Given the description of an element on the screen output the (x, y) to click on. 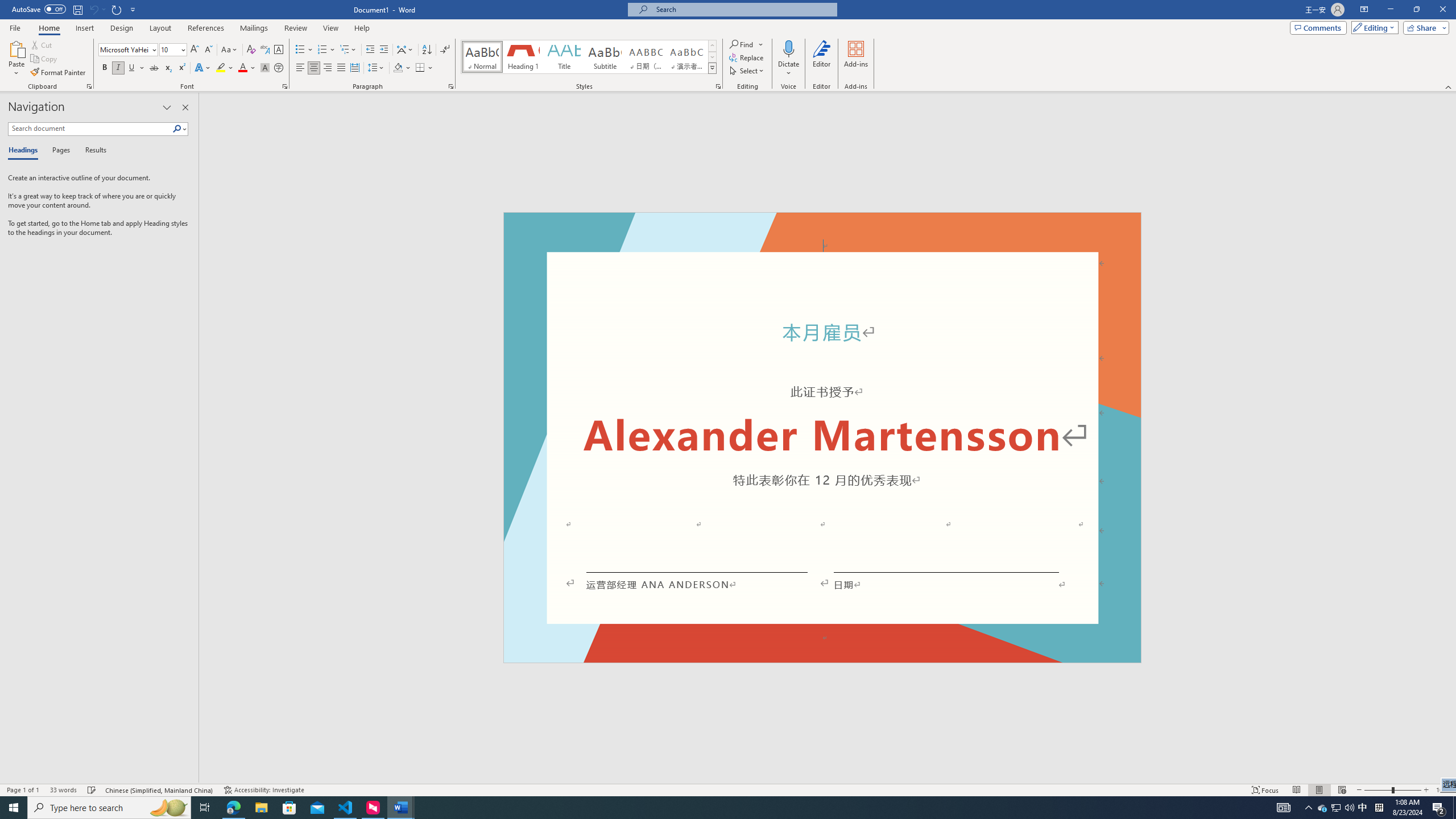
Page 1 content (822, 445)
